Given the description of an element on the screen output the (x, y) to click on. 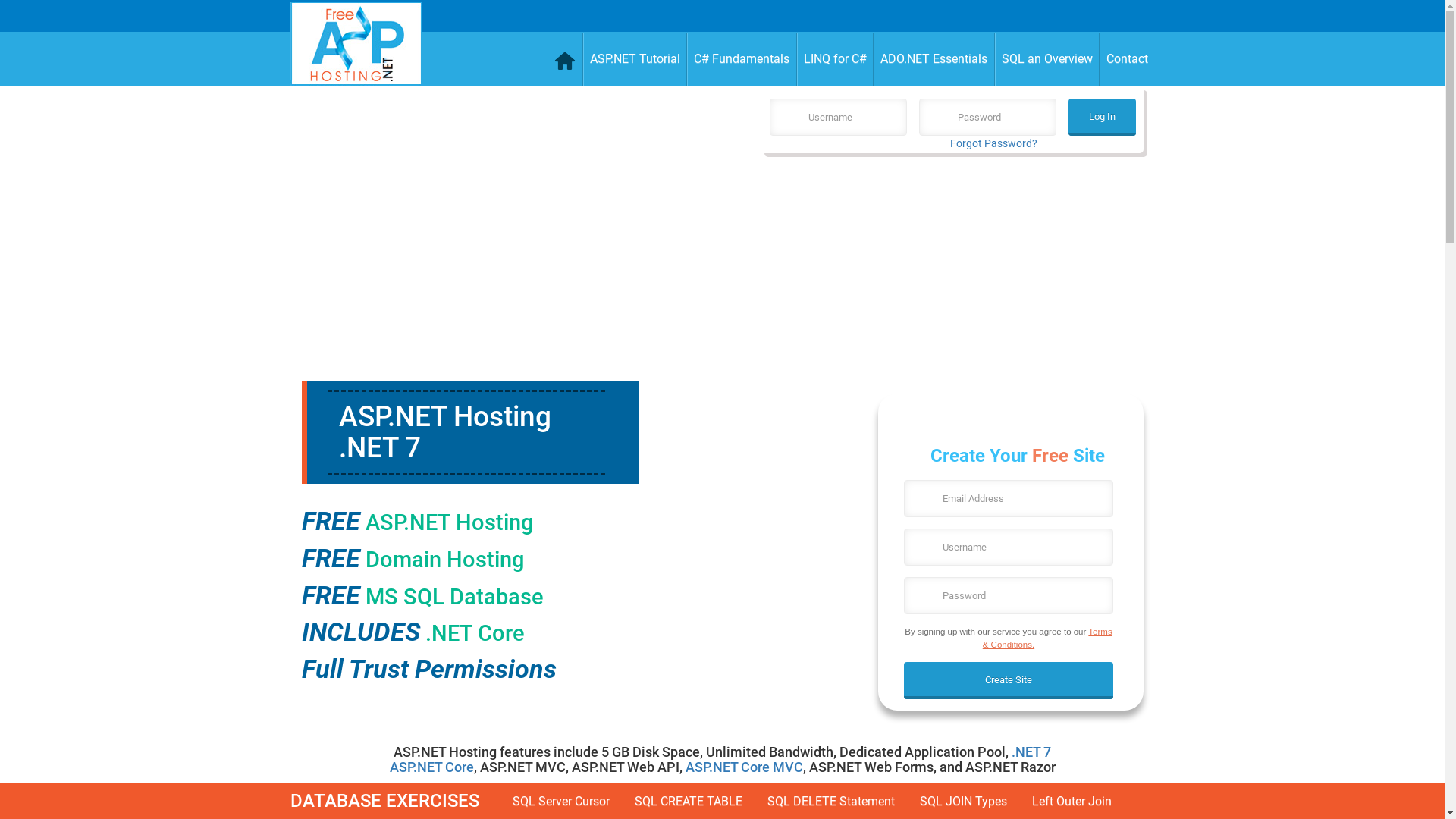
.NET 7 Element type: text (1031, 751)
Contact Element type: text (1126, 58)
Terms & Conditions. Element type: text (1047, 637)
Create Site Element type: text (1008, 680)
ASP.NET Tutorial Element type: text (634, 58)
LINQ for C# Element type: text (834, 58)
Advertisement Element type: hover (950, 274)
Forgot Password? Element type: text (993, 143)
ASP.NET Core MVC Element type: text (744, 767)
C# Fundamentals Element type: text (742, 58)
SQL an Overview Element type: text (1047, 58)
Check User Element type: text (30, 18)
ADO.NET Essentials Element type: text (933, 58)
ASP.NET Hosting .NET 7 Element type: text (444, 432)
ASP.NET Core Element type: text (431, 767)
Log In Element type: text (1101, 116)
